Given the description of an element on the screen output the (x, y) to click on. 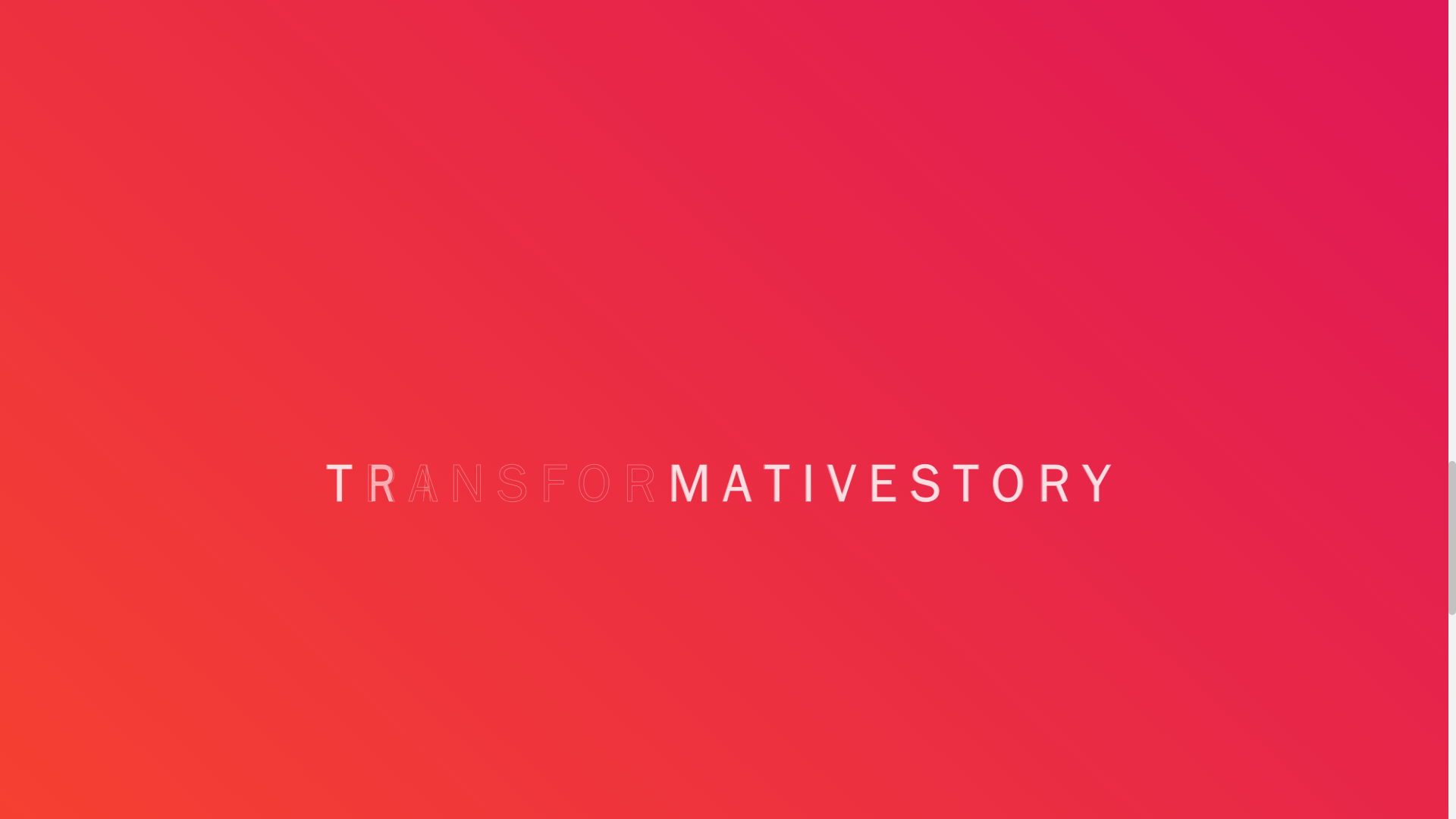
Wednesday (1022, 390)
Monday (943, 390)
Tuesday (983, 390)
